Given the description of an element on the screen output the (x, y) to click on. 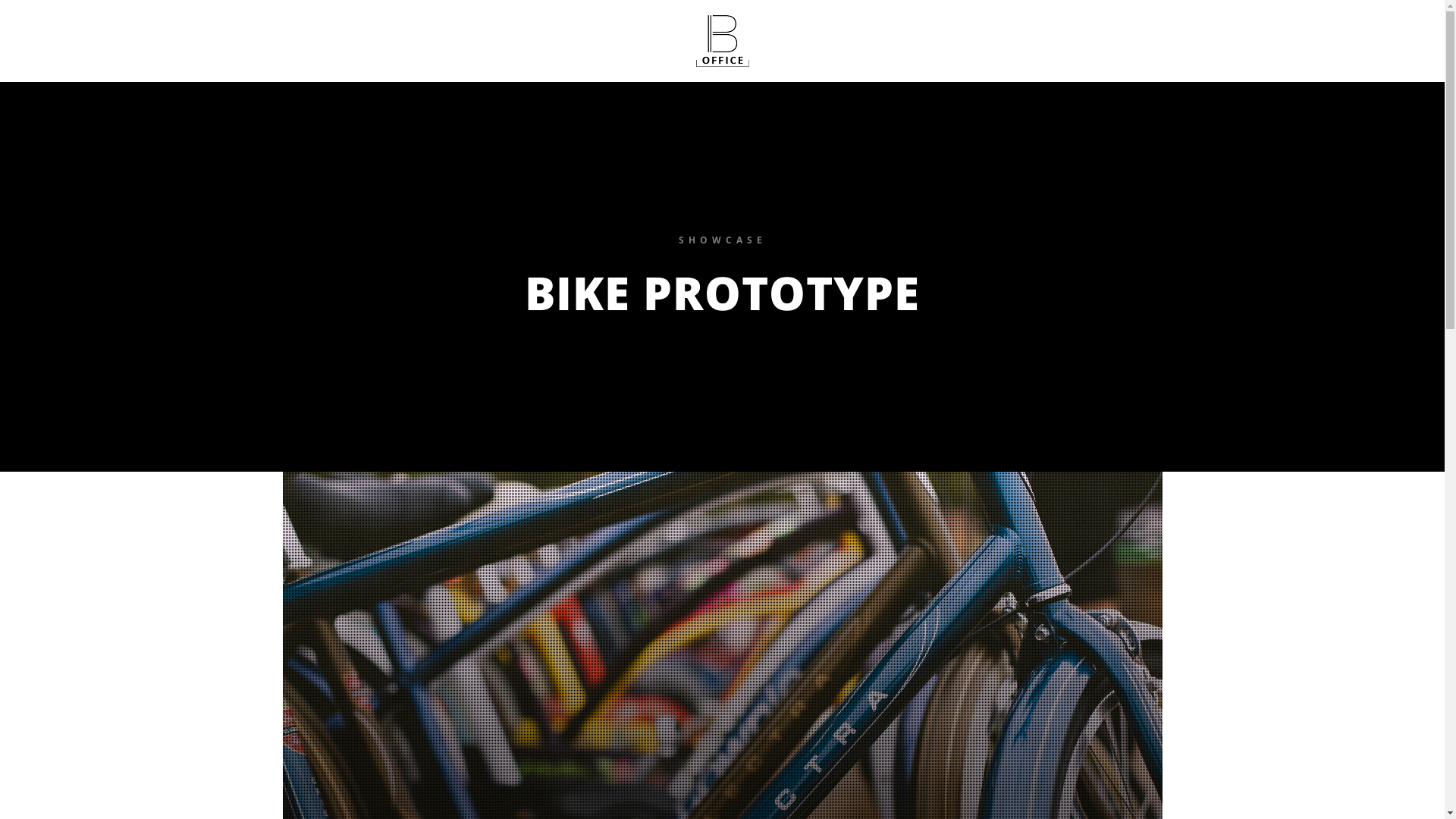
bike1 Element type: text (312, 490)
BOffice Element type: hover (722, 40)
